Given the description of an element on the screen output the (x, y) to click on. 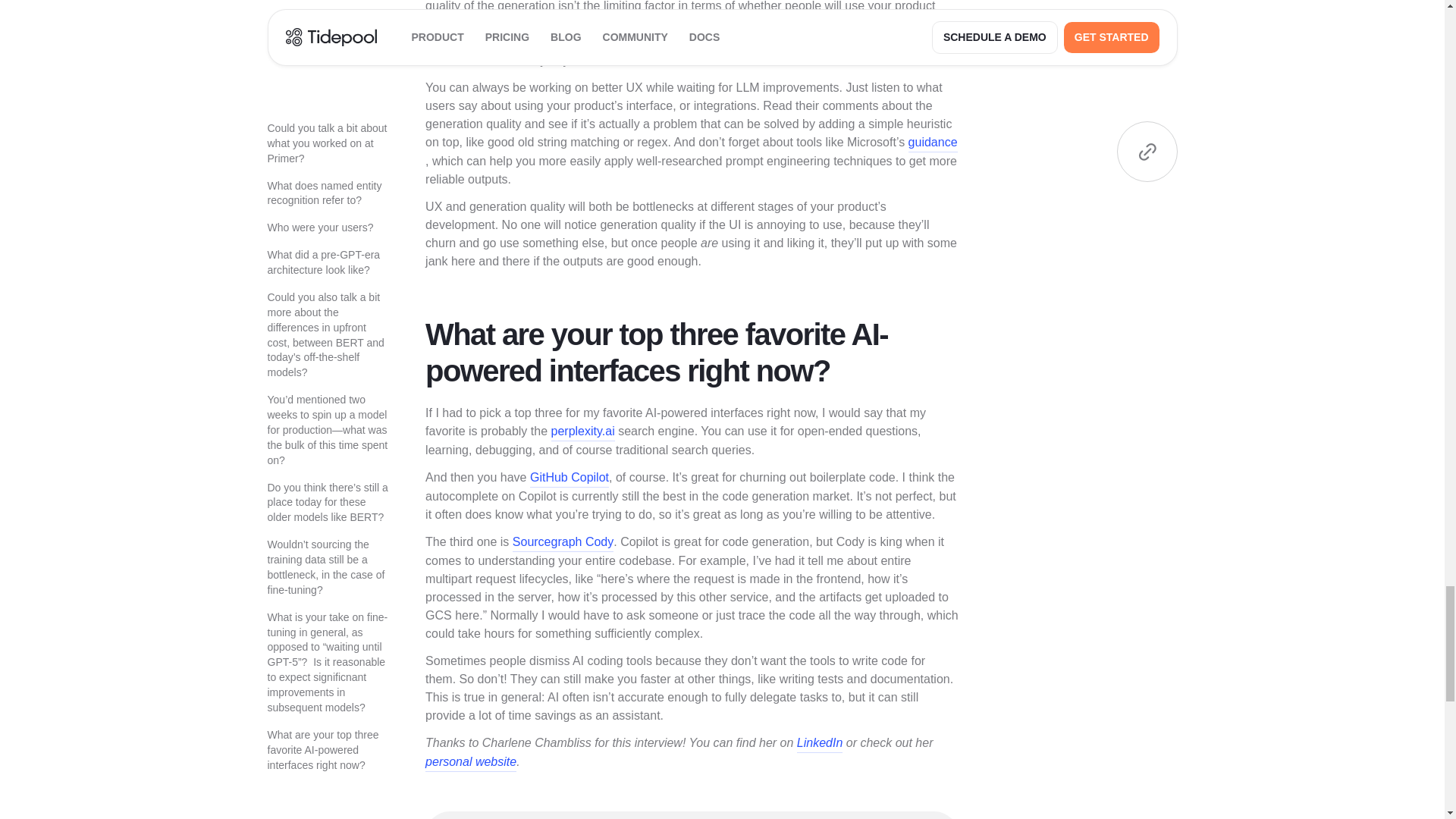
perplexity.ai (582, 431)
Sourcegraph Cody (562, 542)
guidance (933, 142)
personal website (470, 762)
LinkedIn (819, 742)
GitHub Copilot (568, 477)
